Given the description of an element on the screen output the (x, y) to click on. 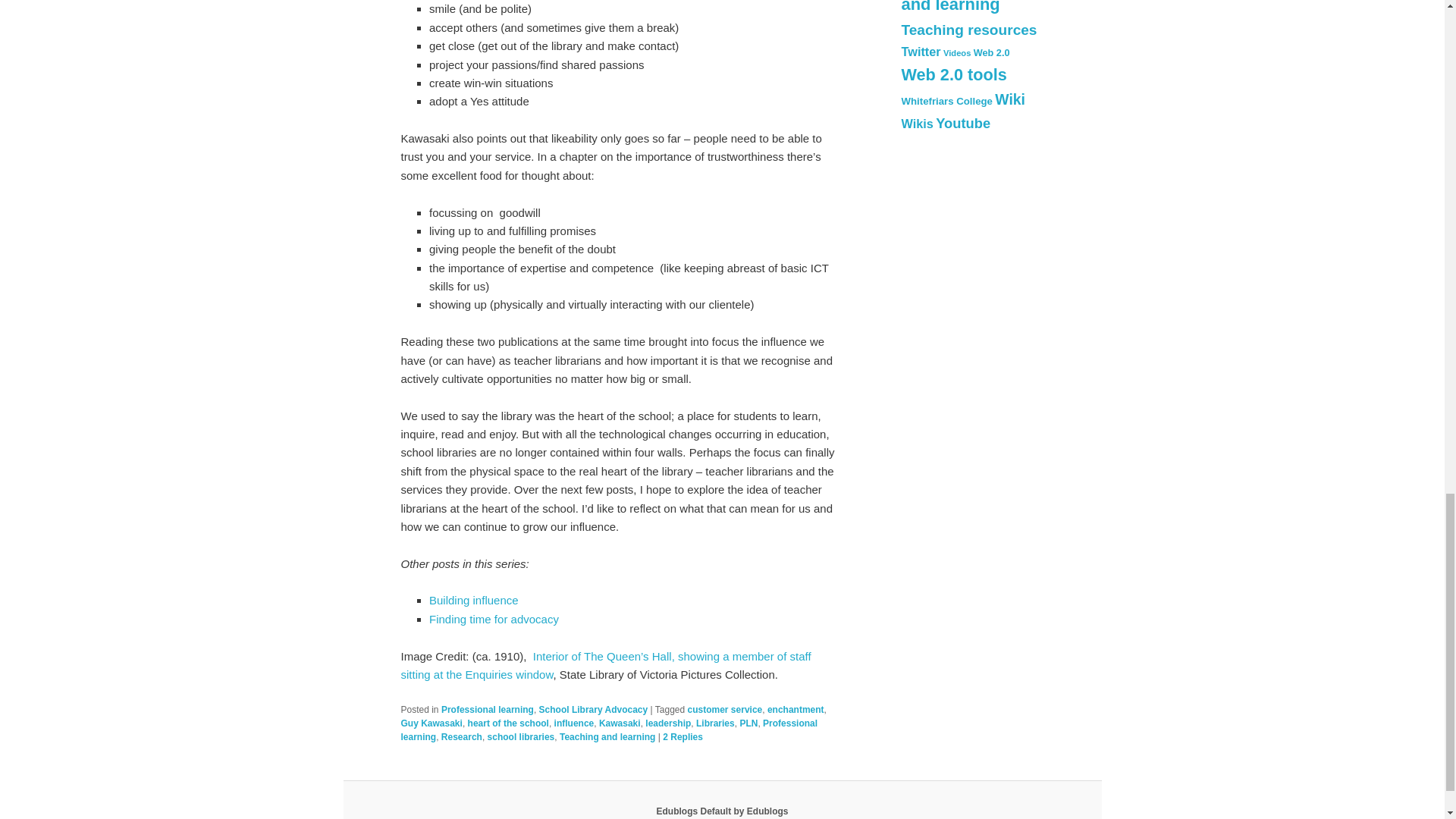
Opportunities for Building Influence (475, 599)
2 Replies (682, 737)
leadership (667, 723)
school libraries (520, 737)
Research (461, 737)
Building influence  (475, 599)
customer service (724, 709)
Teaching and learning (607, 737)
Professional learning (487, 709)
